Given the description of an element on the screen output the (x, y) to click on. 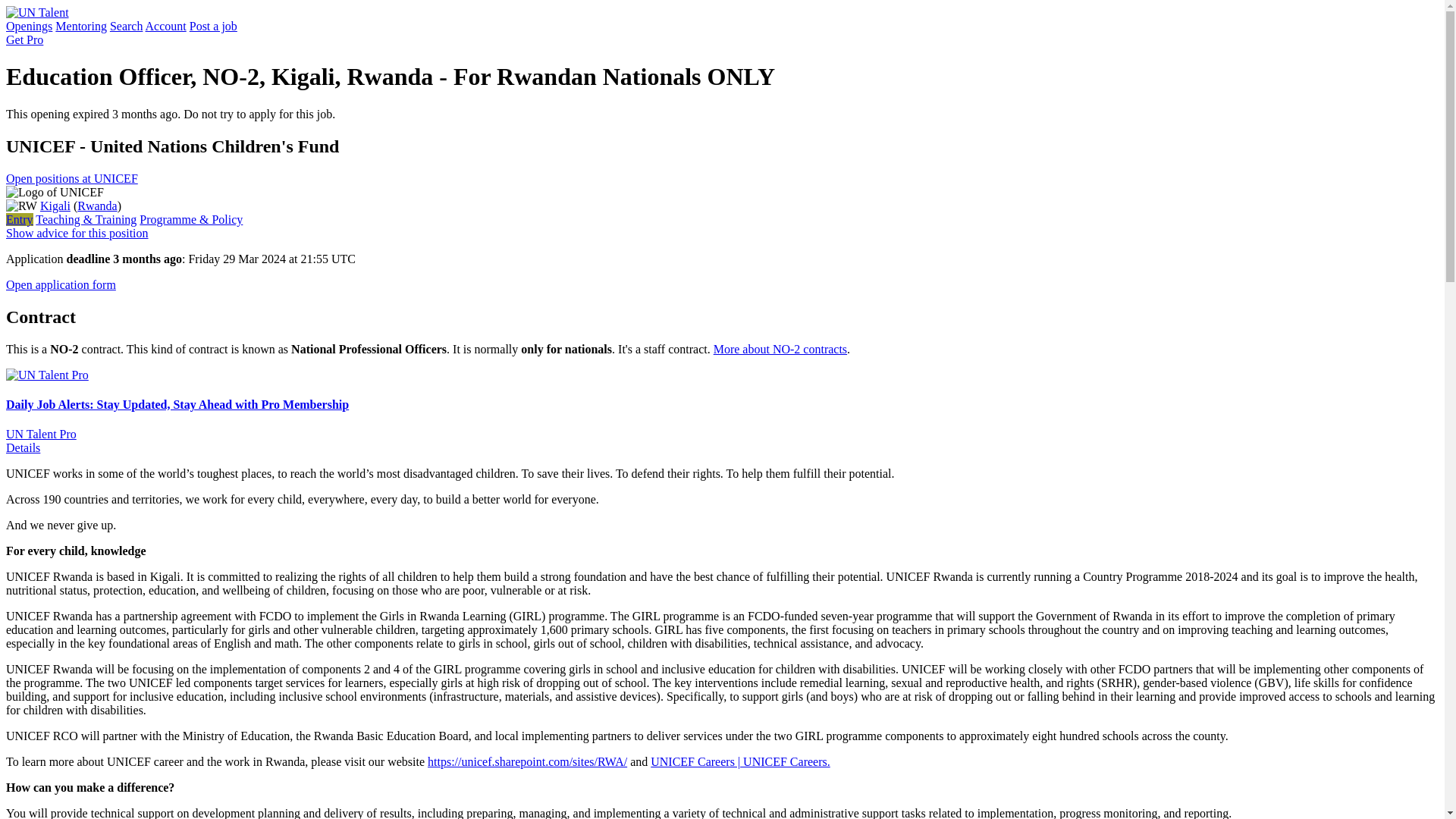
Open positions at UNICEF (71, 178)
Account (165, 25)
Kigali (54, 205)
Show advice for this position (76, 232)
Details (22, 447)
Rwanda (96, 205)
More about NO-2 contracts (780, 349)
Get Pro (24, 39)
Post a job (213, 25)
UN Talent Pro (41, 433)
Openings (28, 25)
Open application form (60, 284)
Mentoring (80, 25)
Entry (19, 219)
